Given the description of an element on the screen output the (x, y) to click on. 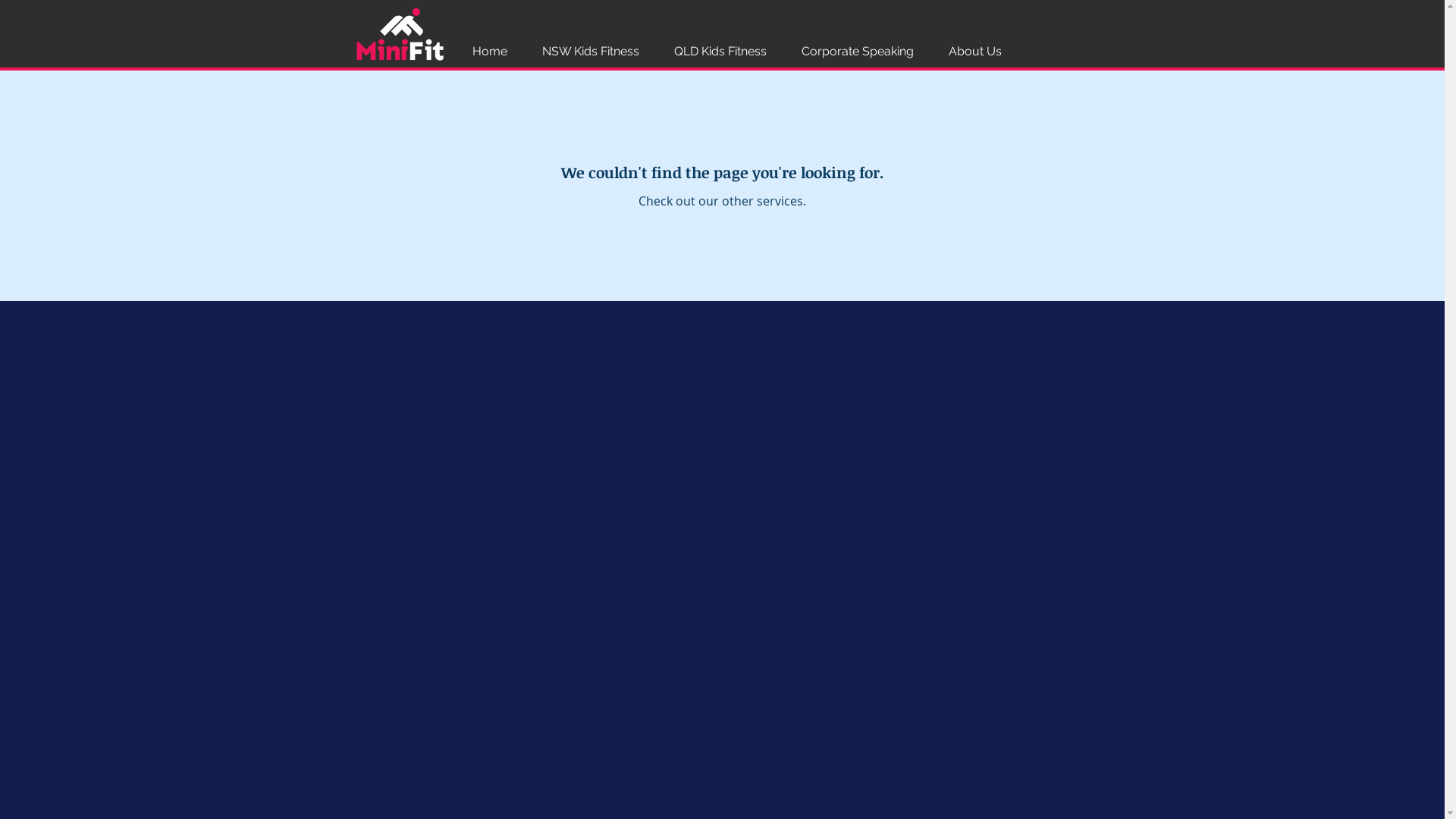
Home Element type: text (489, 51)
Corporate Speaking Element type: text (857, 51)
About Us Element type: text (975, 51)
